Given the description of an element on the screen output the (x, y) to click on. 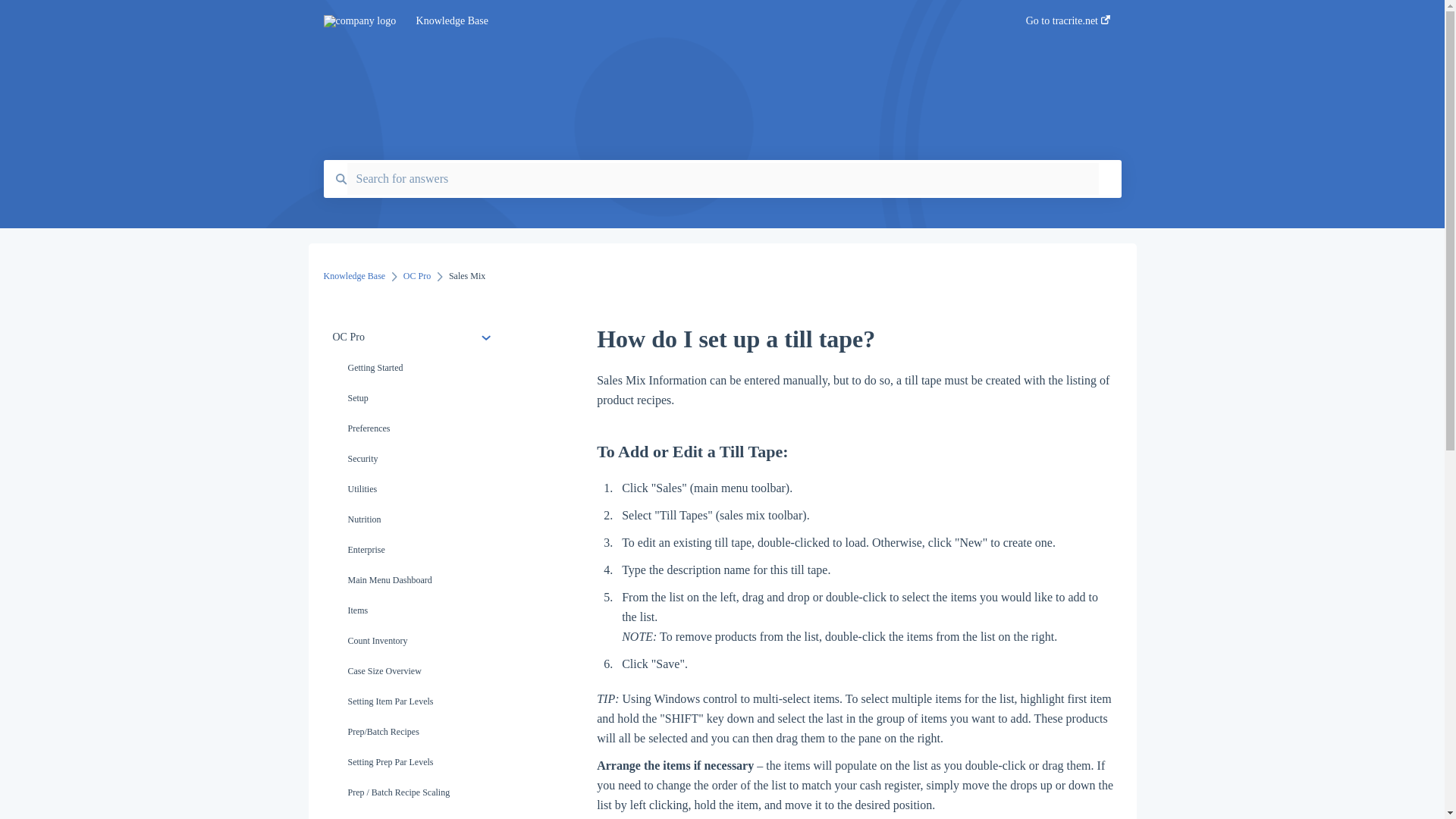
Knowledge Base (697, 21)
Go to tracrite.net (1067, 25)
